Given the description of an element on the screen output the (x, y) to click on. 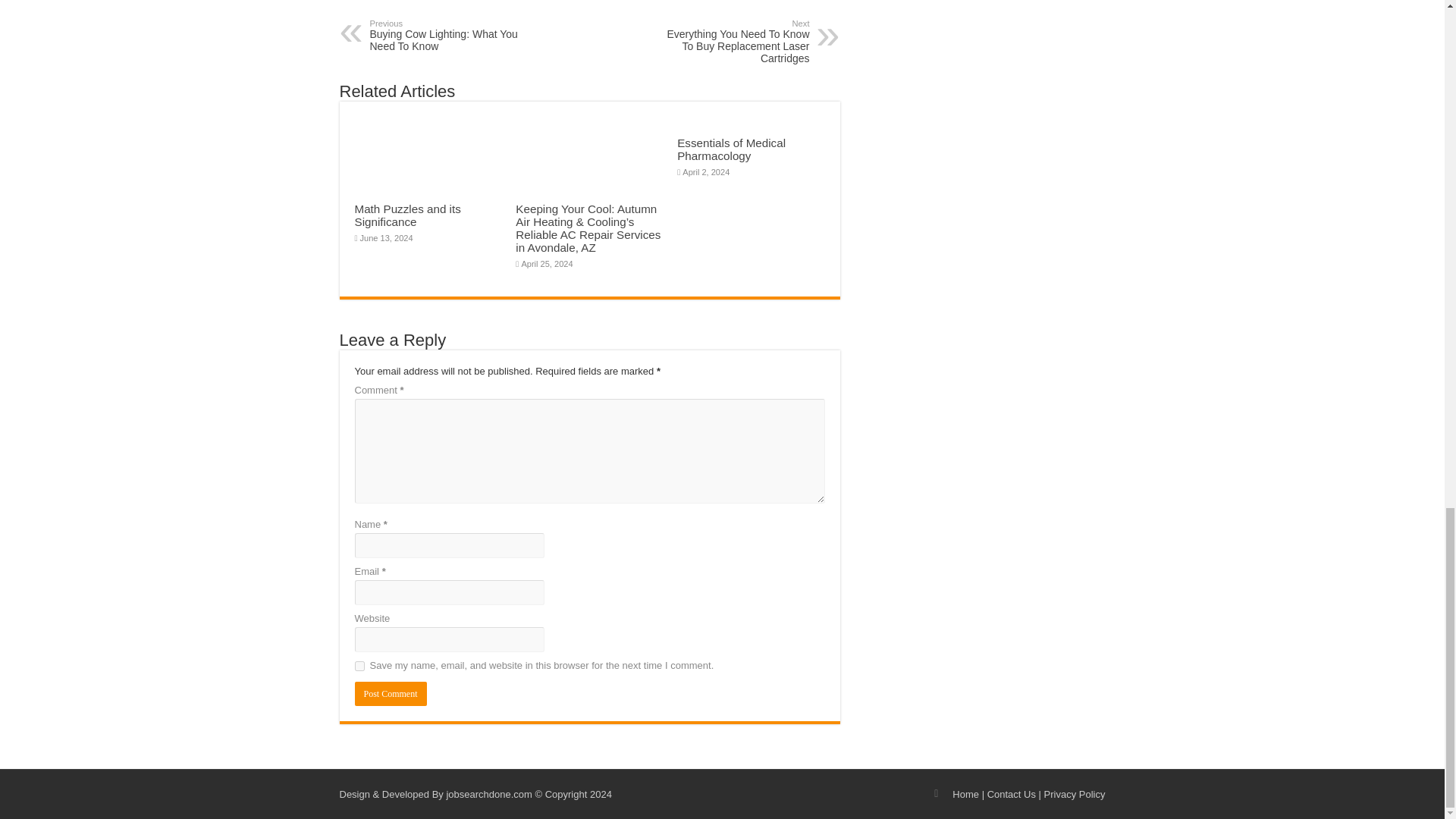
Math Puzzles and its Significance (408, 215)
yes (360, 665)
Post Comment (447, 35)
